Given the description of an element on the screen output the (x, y) to click on. 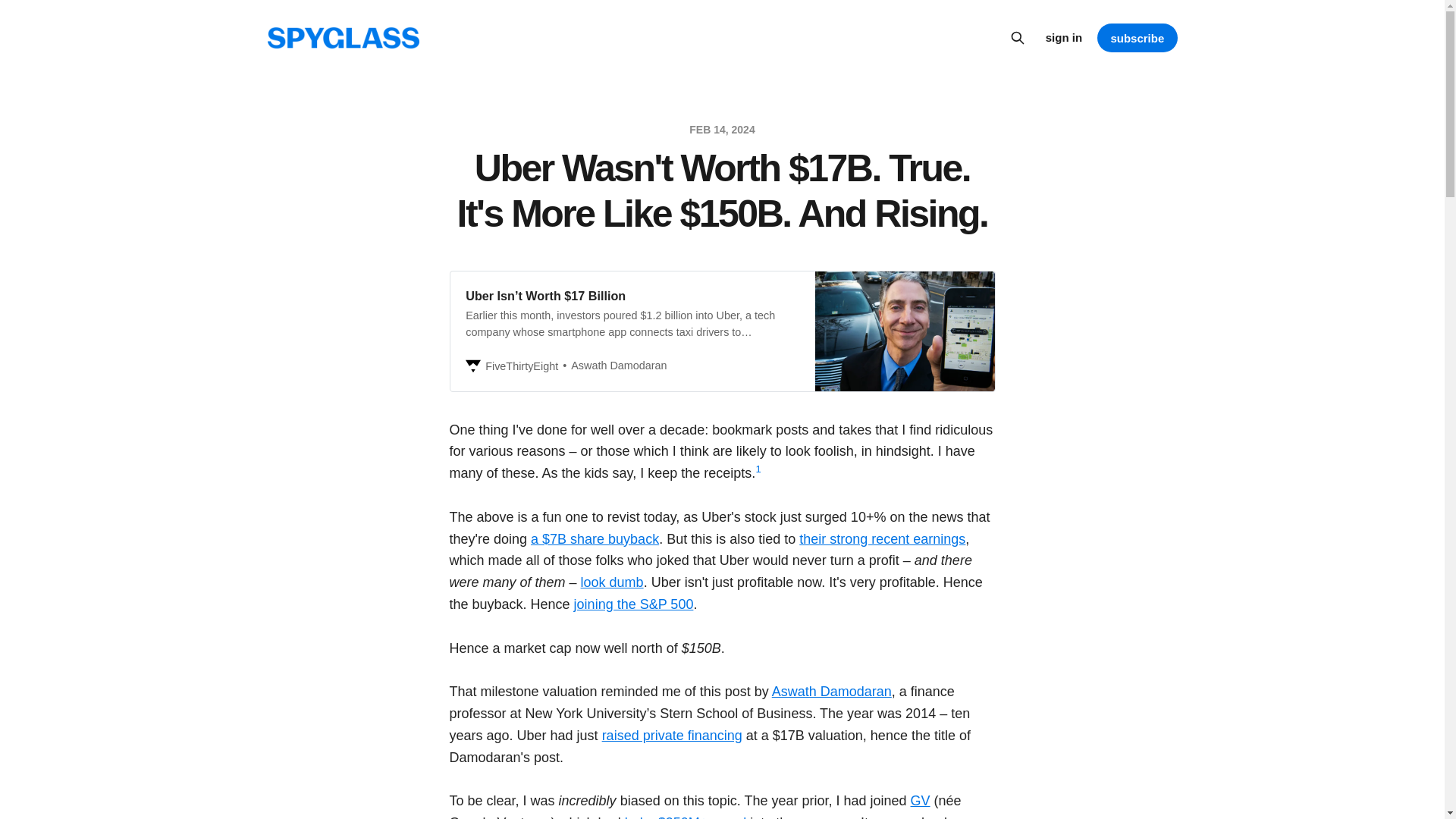
Aswath Damodaran (831, 691)
subscribe (1136, 37)
their strong recent earnings (882, 539)
sign in (1063, 37)
look dumb (611, 581)
raised private financing (672, 735)
GV (920, 800)
